Given the description of an element on the screen output the (x, y) to click on. 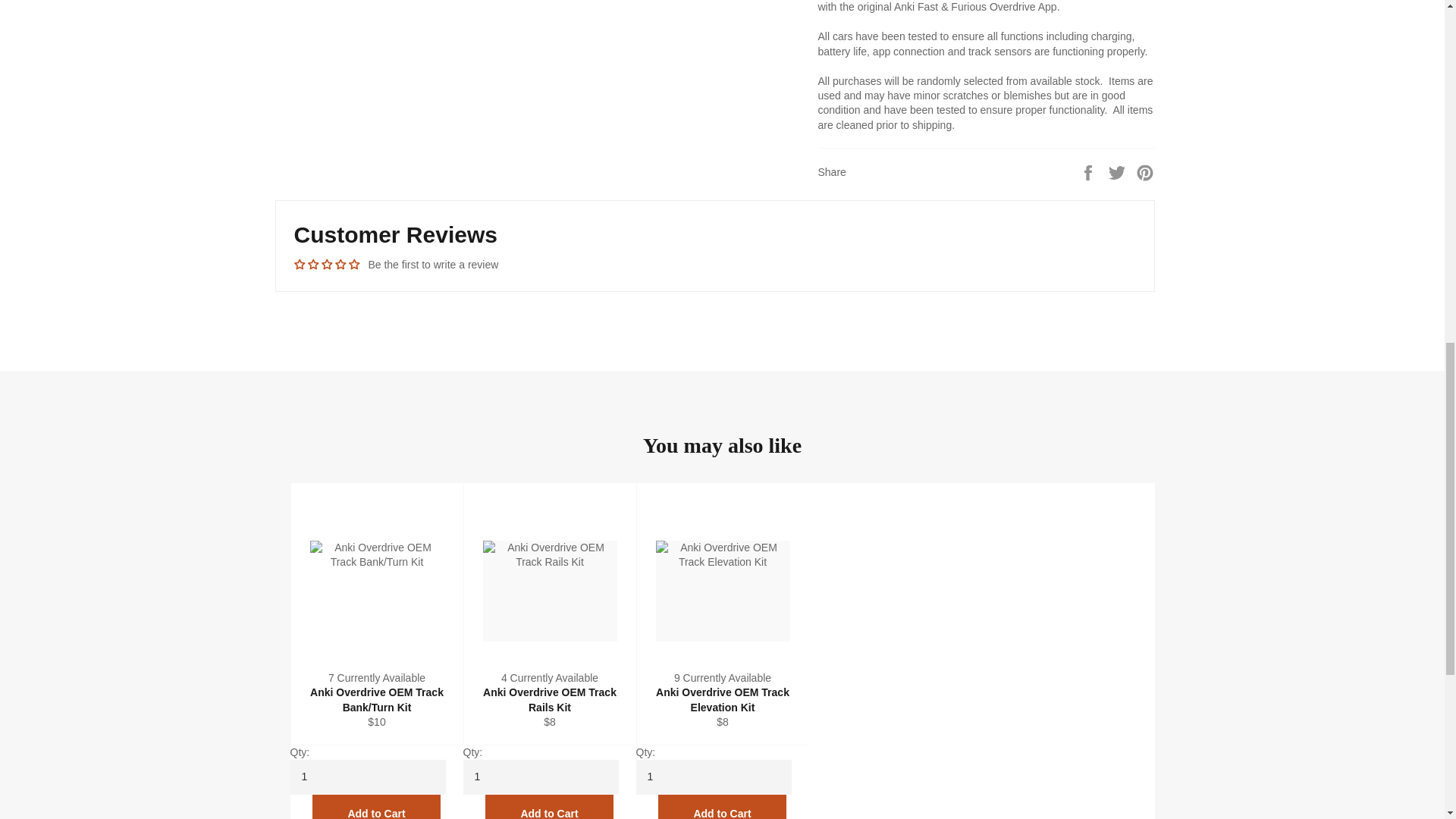
Add to Cart (722, 806)
Share on Facebook (1089, 172)
1 (540, 776)
Add to Cart (548, 806)
1 (712, 776)
Tweet on Twitter (1118, 172)
1 (367, 776)
Pin on Pinterest (1144, 172)
Add to Cart (376, 806)
